Given the description of an element on the screen output the (x, y) to click on. 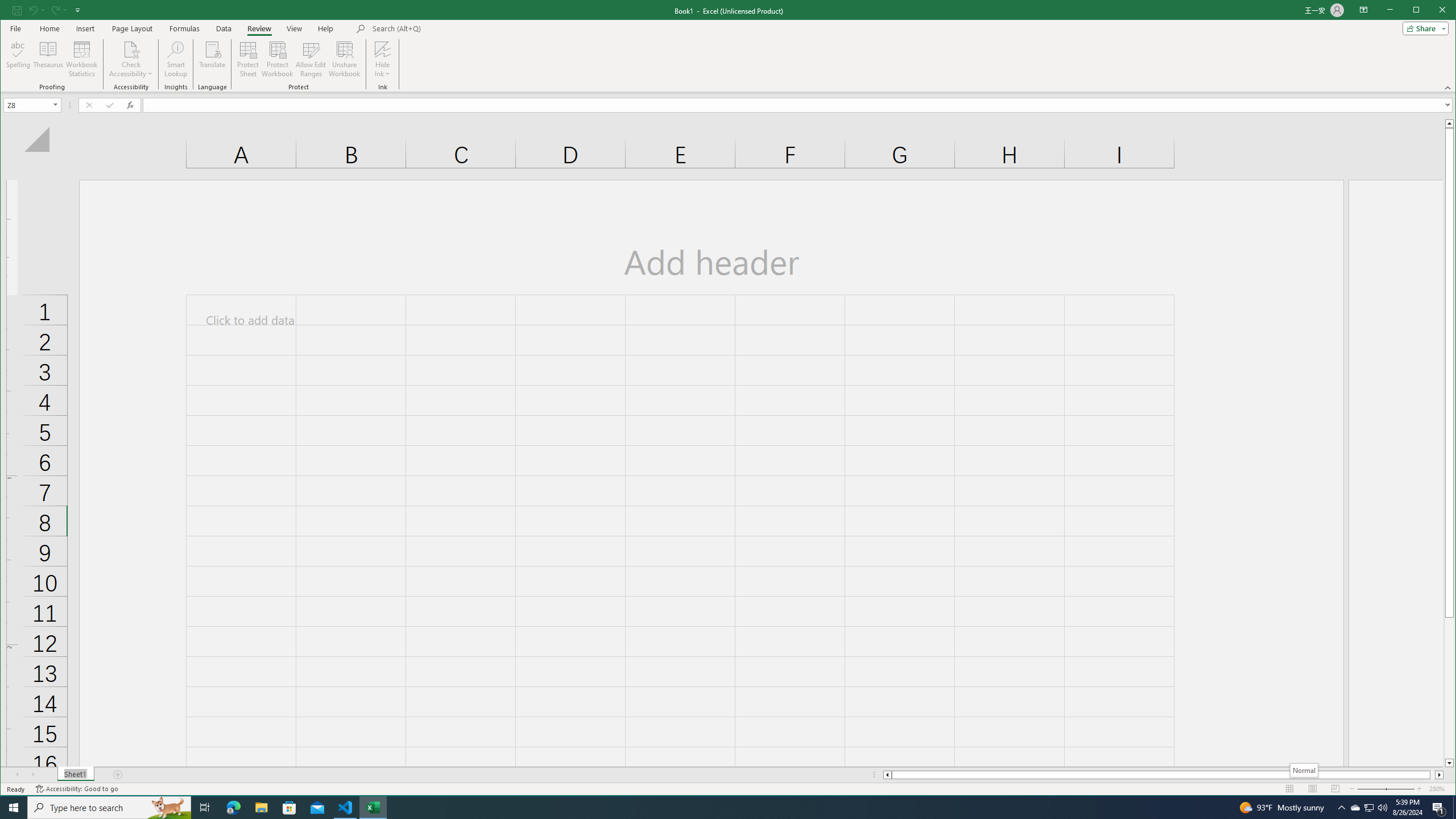
Notification Chevron (1341, 807)
Column left (886, 774)
Running applications (717, 807)
Help (325, 28)
Action Center, 1 new notification (1439, 807)
Sheet1 (75, 774)
Class: NetUIScrollBar (1163, 774)
Normal (1289, 788)
Page Break Preview (1334, 788)
Thesaurus... (48, 59)
